Given the description of an element on the screen output the (x, y) to click on. 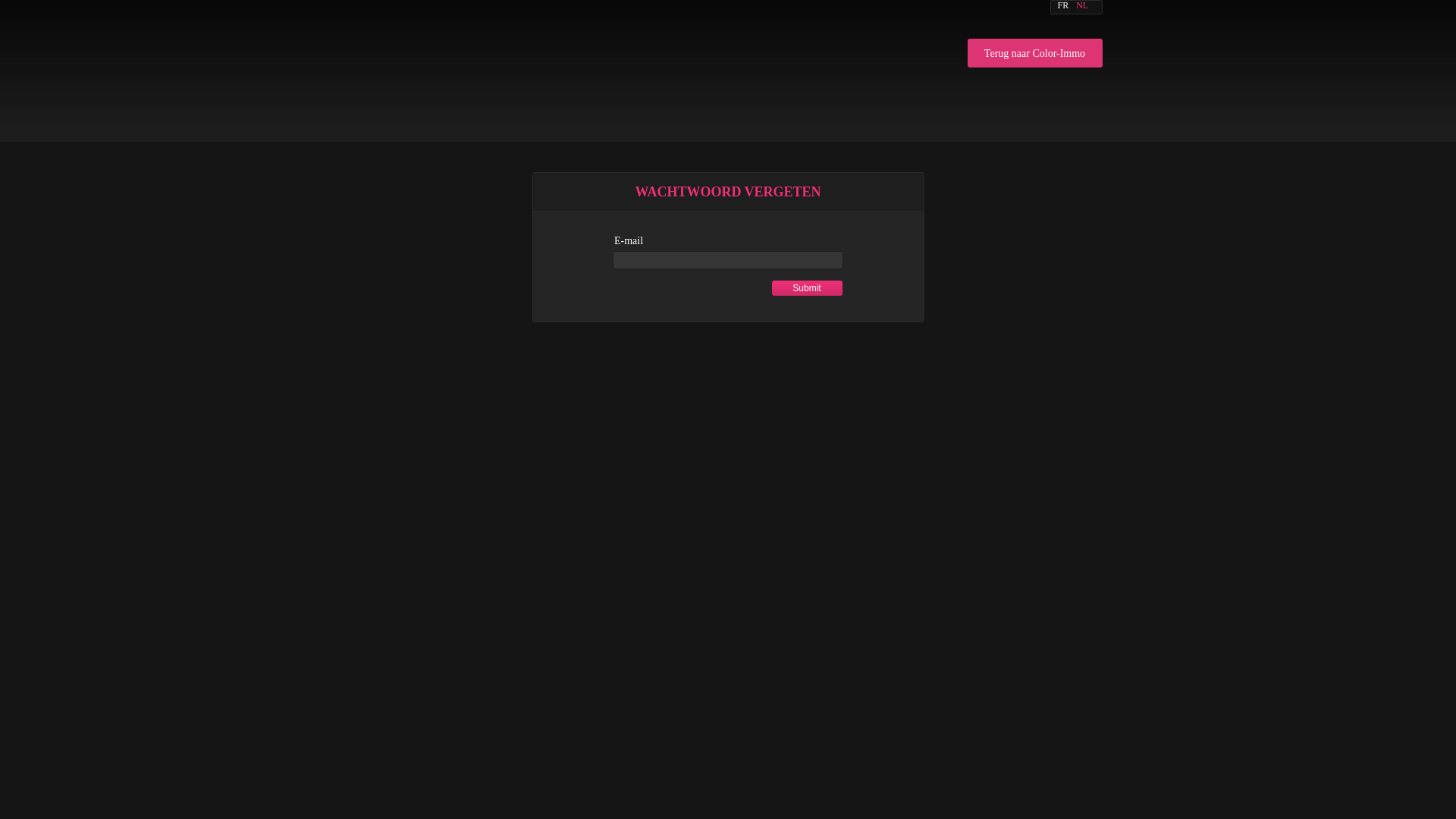
Terug naar Color-Immo Element type: text (1034, 52)
NL Element type: text (1082, 5)
FR Element type: text (1062, 5)
Submit Element type: text (806, 287)
